Given the description of an element on the screen output the (x, y) to click on. 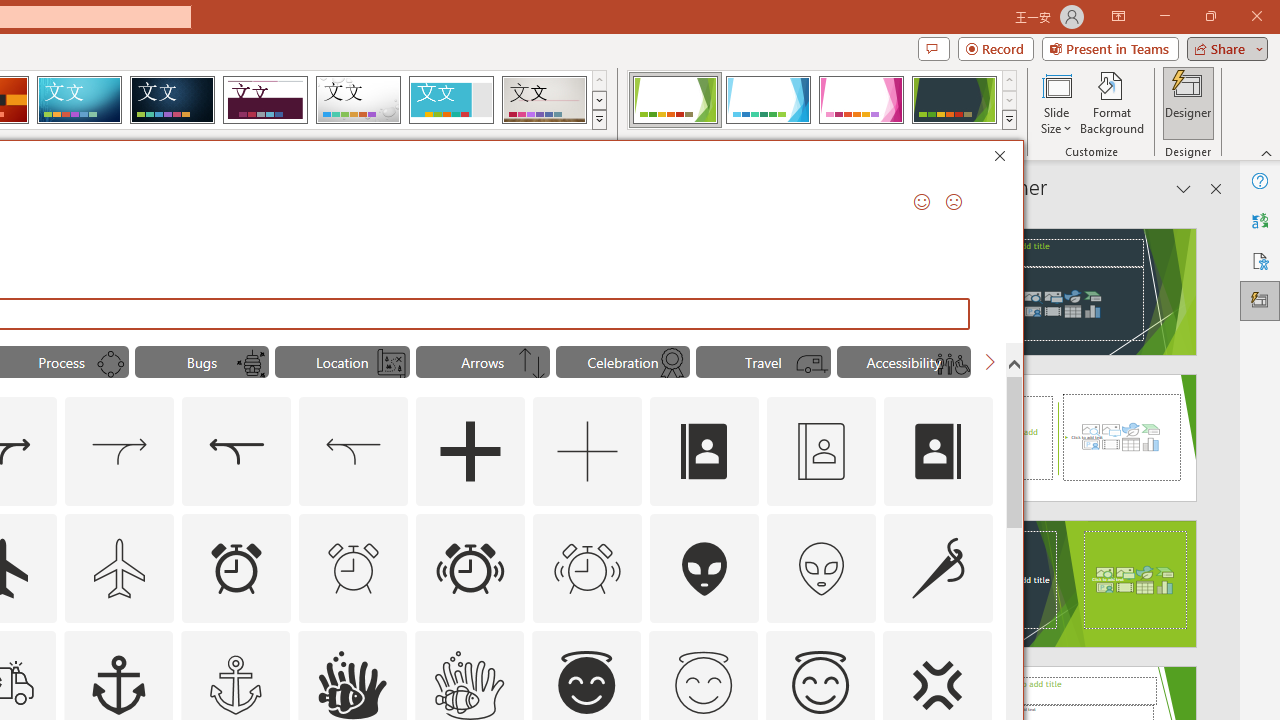
AutomationID: Icons (703, 683)
Droplet (358, 100)
Next Search Suggestion (990, 362)
AutomationID: Icons_Acquisition_RTL (236, 452)
AutomationID: Icons_Trailer_M (812, 364)
Facet Variant 3 (861, 100)
AutomationID: Icons_AlarmClock_M (353, 568)
